Given the description of an element on the screen output the (x, y) to click on. 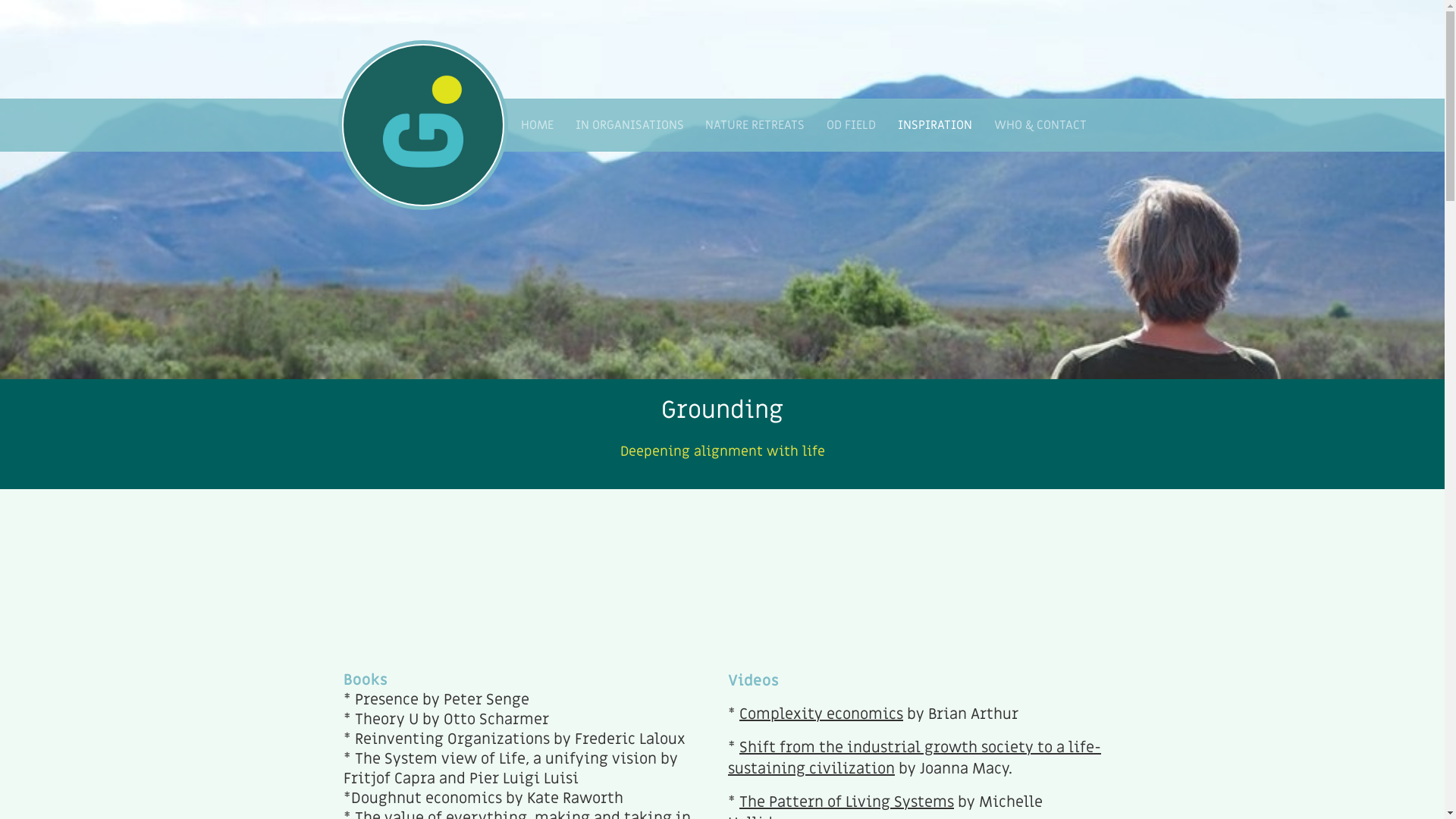
WHO & CONTACT Element type: text (1039, 124)
NATURE RETREATS Element type: text (754, 124)
INSPIRATION Element type: text (935, 124)
The Pattern of Living Systems Element type: text (846, 802)
Complexity economics Element type: text (821, 714)
OD FIELD Element type: text (851, 124)
  Element type: text (422, 124)
HOME Element type: text (536, 124)
IN ORGANISATIONS Element type: text (629, 124)
